Given the description of an element on the screen output the (x, y) to click on. 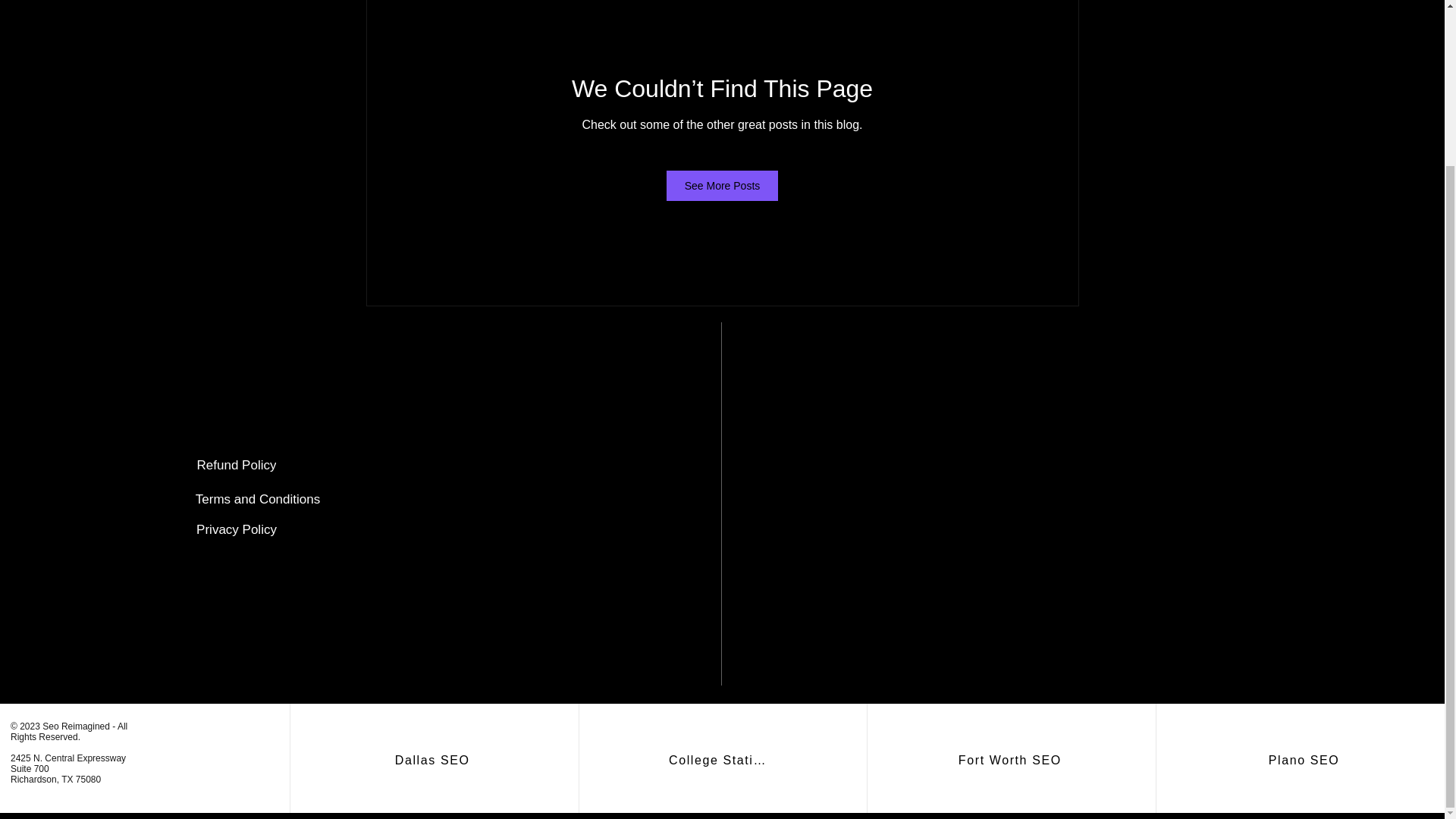
Refund Policy (236, 465)
Plano SEO (1305, 760)
Privacy Policy (236, 530)
See More Posts (722, 185)
Terms and Conditions (258, 499)
College Station SEO (722, 760)
Dallas SEO (433, 760)
Fort Worth SEO (1011, 760)
